Given the description of an element on the screen output the (x, y) to click on. 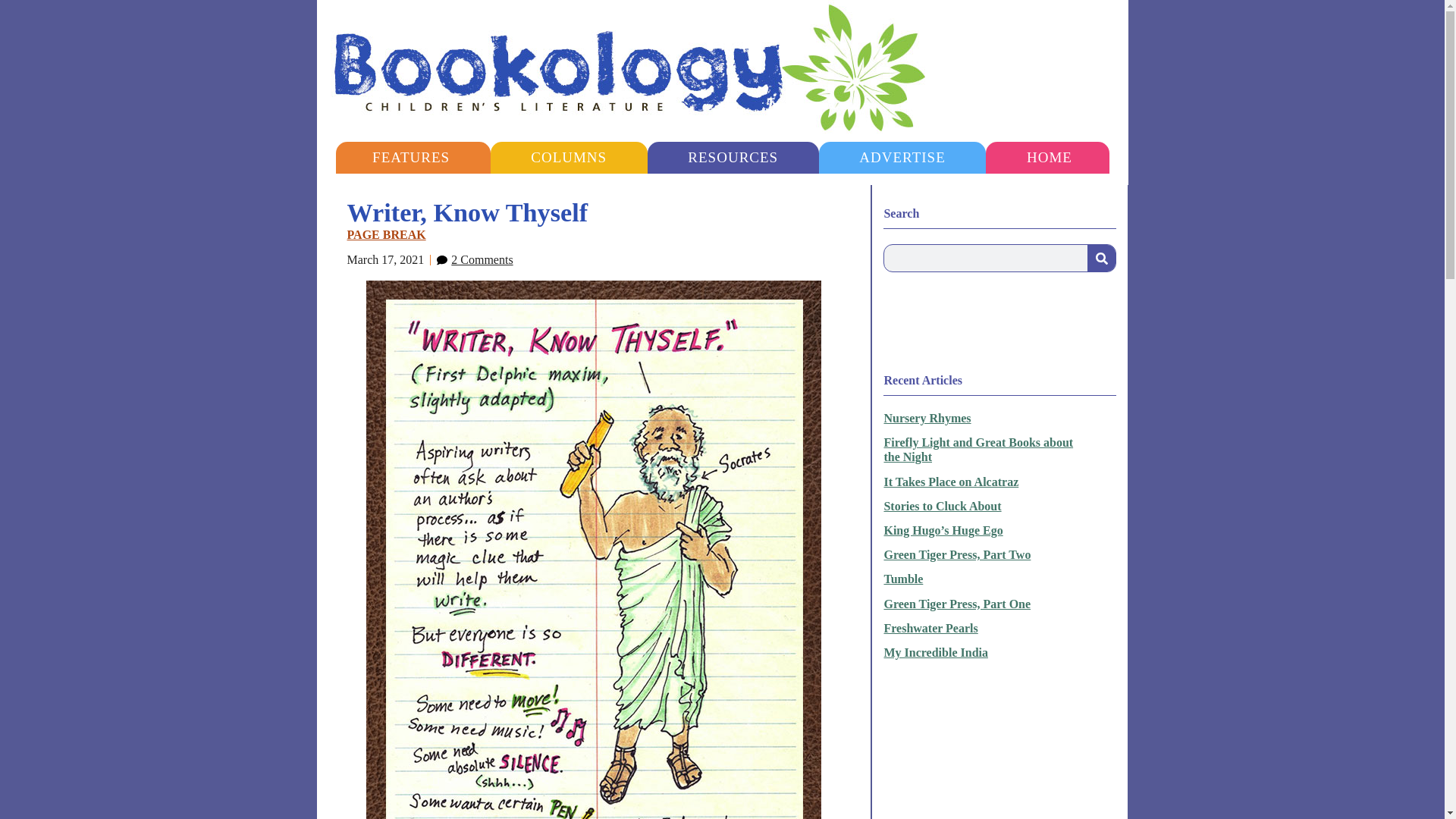
HOME (1049, 157)
FEATURES (410, 157)
ADVERTISE (902, 157)
COLUMNS (569, 157)
RESOURCES (732, 157)
